Given the description of an element on the screen output the (x, y) to click on. 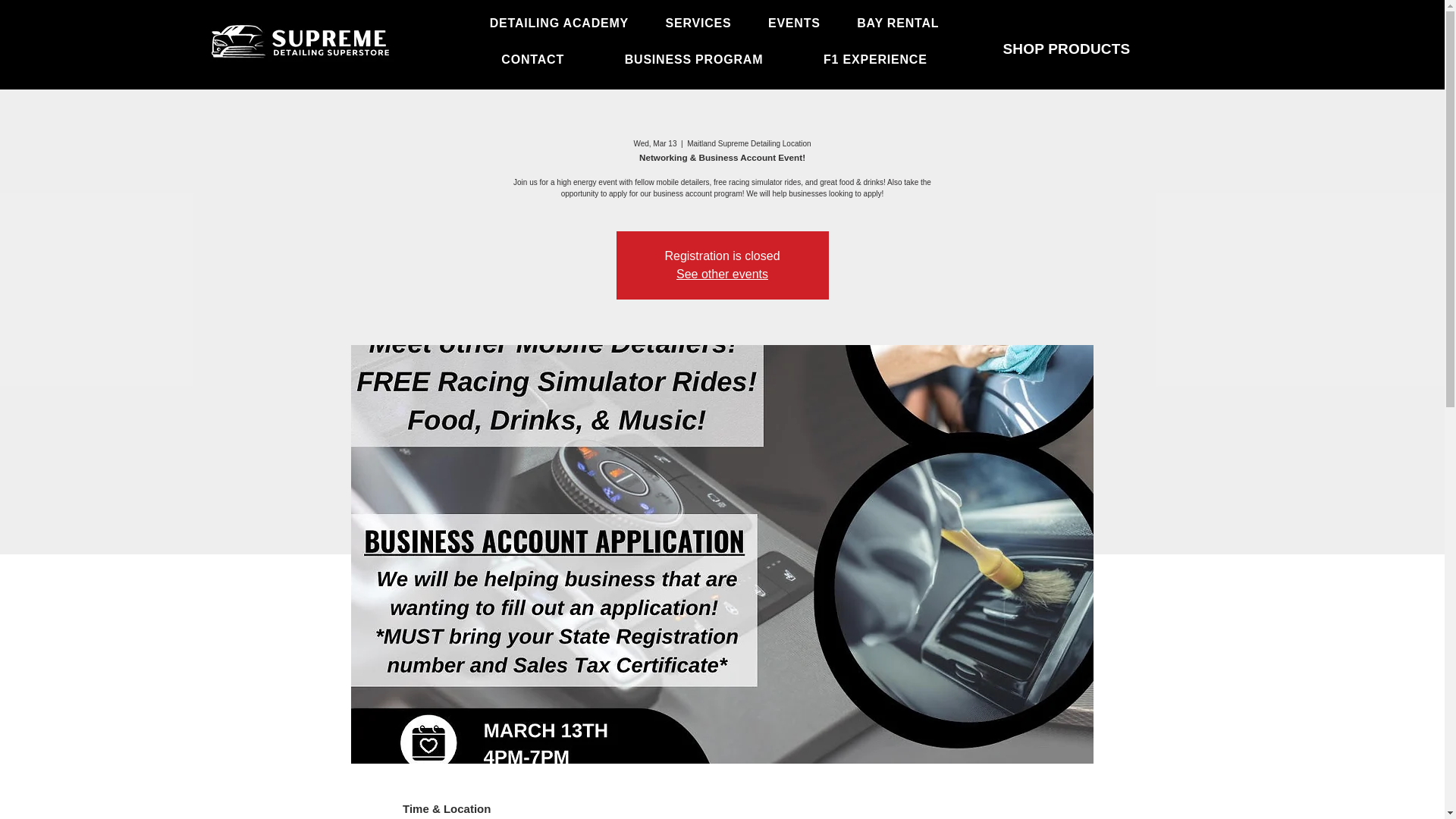
F1 EXPERIENCE (874, 60)
DETAILING ACADEMY (559, 23)
SHOP PRODUCTS (1066, 48)
EVENTS (793, 23)
See other events (722, 273)
BAY RENTAL (898, 23)
Supreme Detailing Superstore logo goes h (300, 41)
BUSINESS PROGRAM (693, 60)
CONTACT (532, 60)
SERVICES (697, 23)
